Given the description of an element on the screen output the (x, y) to click on. 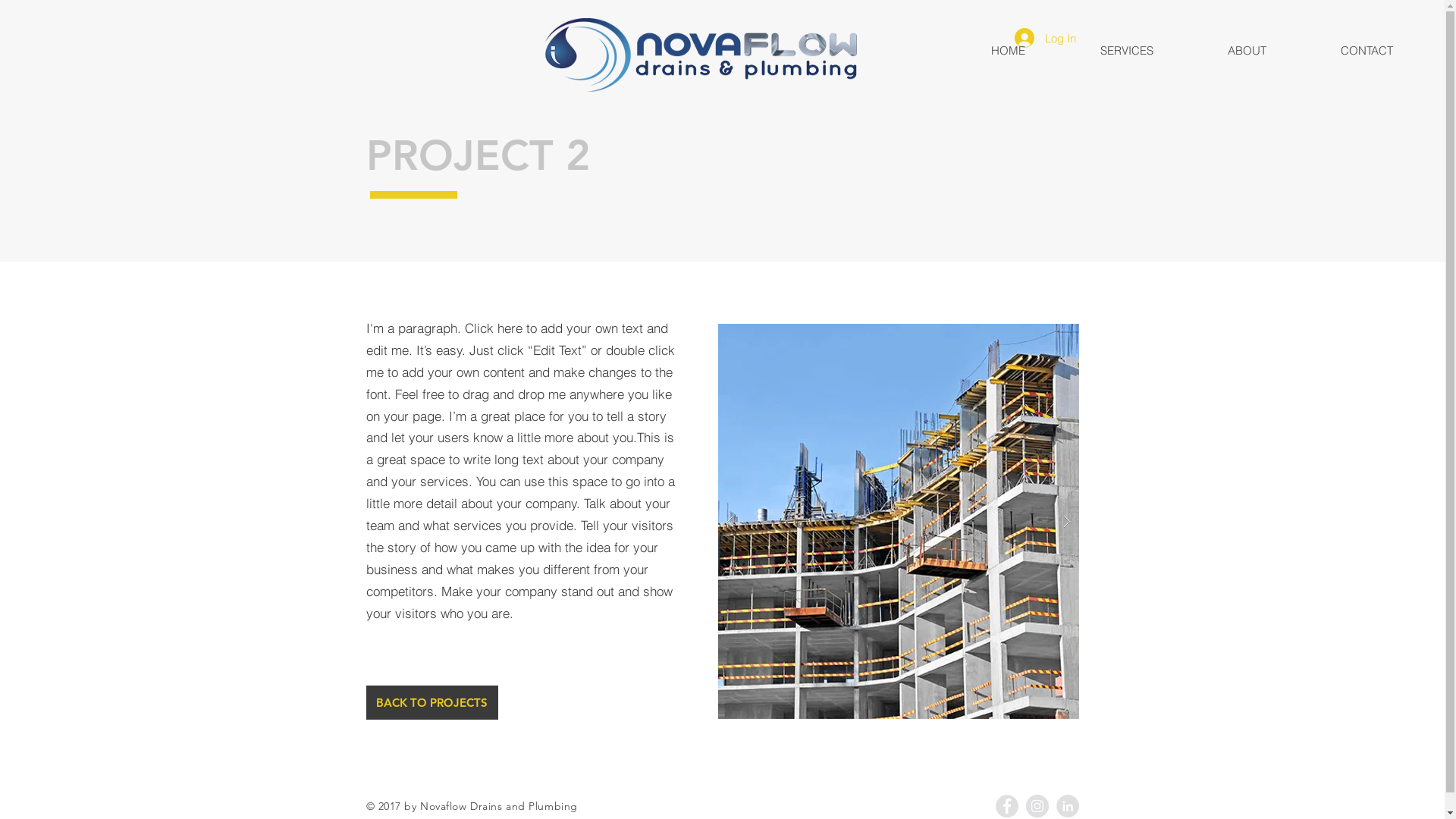
HOME Element type: text (1007, 50)
SERVICES Element type: text (1125, 50)
CONTACT Element type: text (1365, 50)
BACK TO PROJECTS Element type: text (431, 702)
ABOUT Element type: text (1245, 50)
Log In Element type: text (1045, 37)
